Given the description of an element on the screen output the (x, y) to click on. 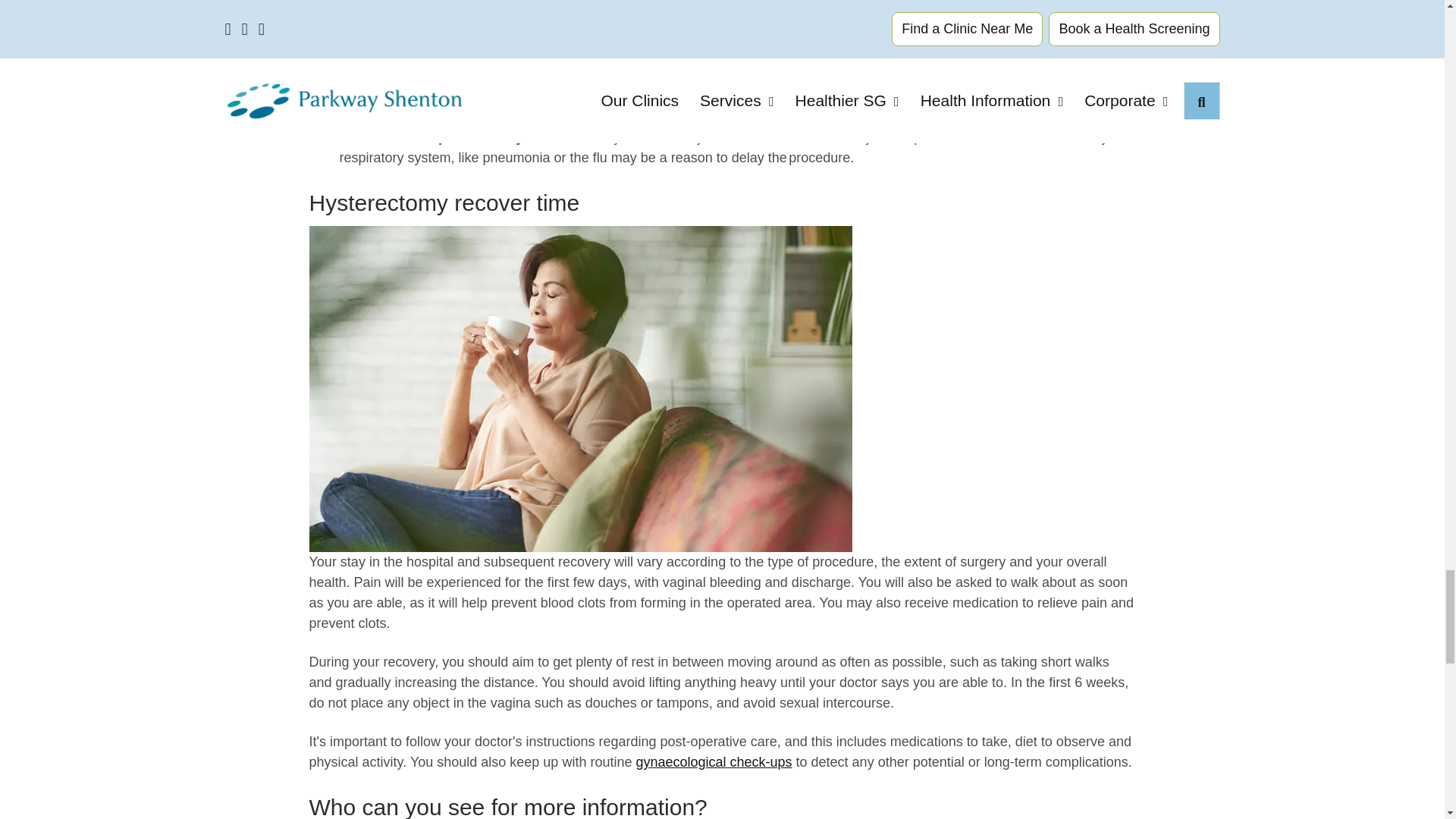
Women's health (713, 761)
